Given the description of an element on the screen output the (x, y) to click on. 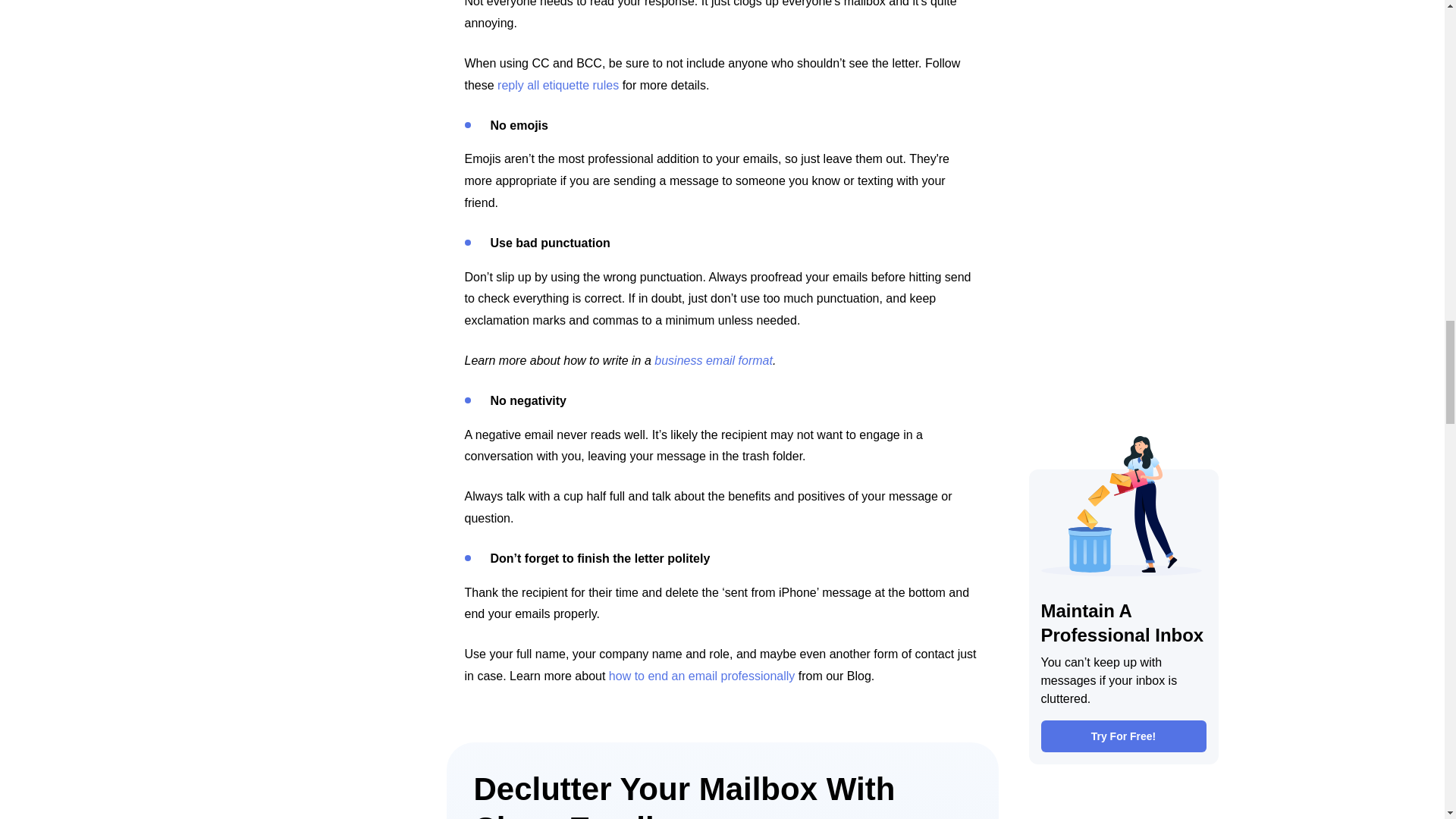
business email format (713, 359)
how to end an email professionally (701, 675)
reply all etiquette rules (557, 84)
